Given the description of an element on the screen output the (x, y) to click on. 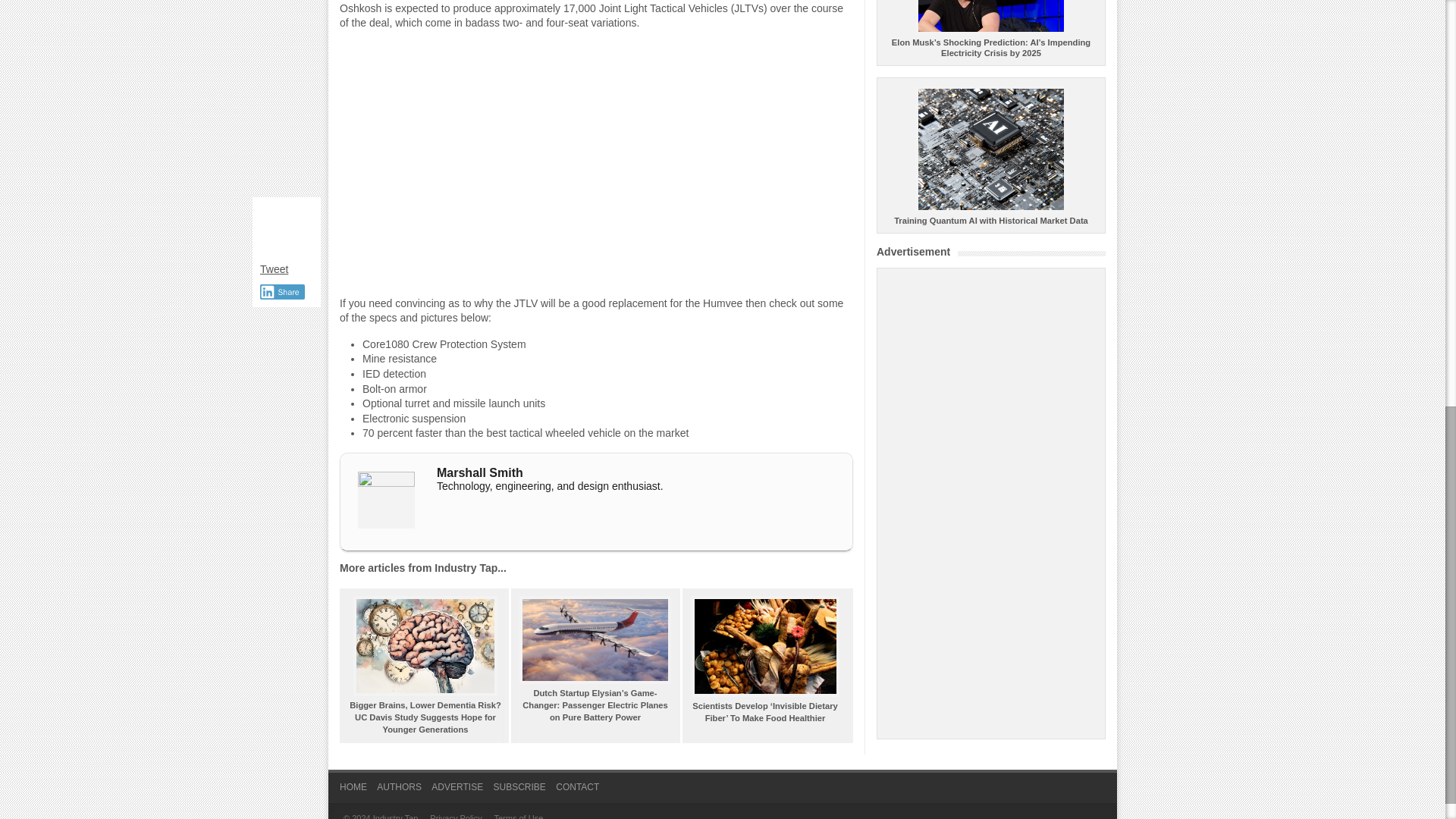
SUBSCRIBE (519, 791)
ADVERTISE (456, 791)
HOME (352, 791)
Training Quantum AI with Historical Market Data (990, 215)
Training Quantum AI with Historical Market Data (990, 215)
CONTACT (577, 791)
AUTHORS (399, 791)
